Given the description of an element on the screen output the (x, y) to click on. 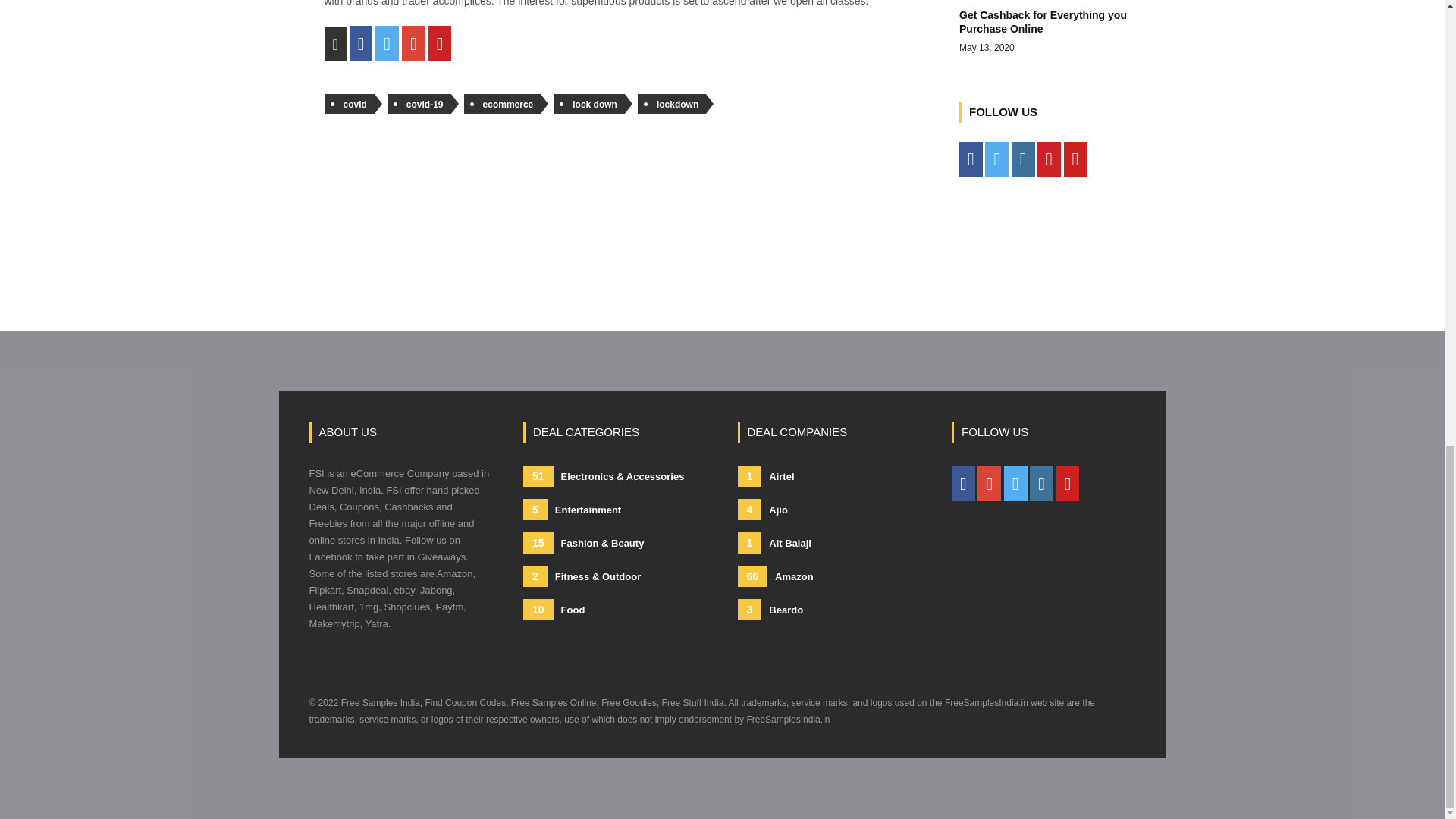
covid (349, 103)
lock down (588, 103)
ecommerce (1055, 28)
covid-19 (502, 103)
lockdown (419, 103)
